Given the description of an element on the screen output the (x, y) to click on. 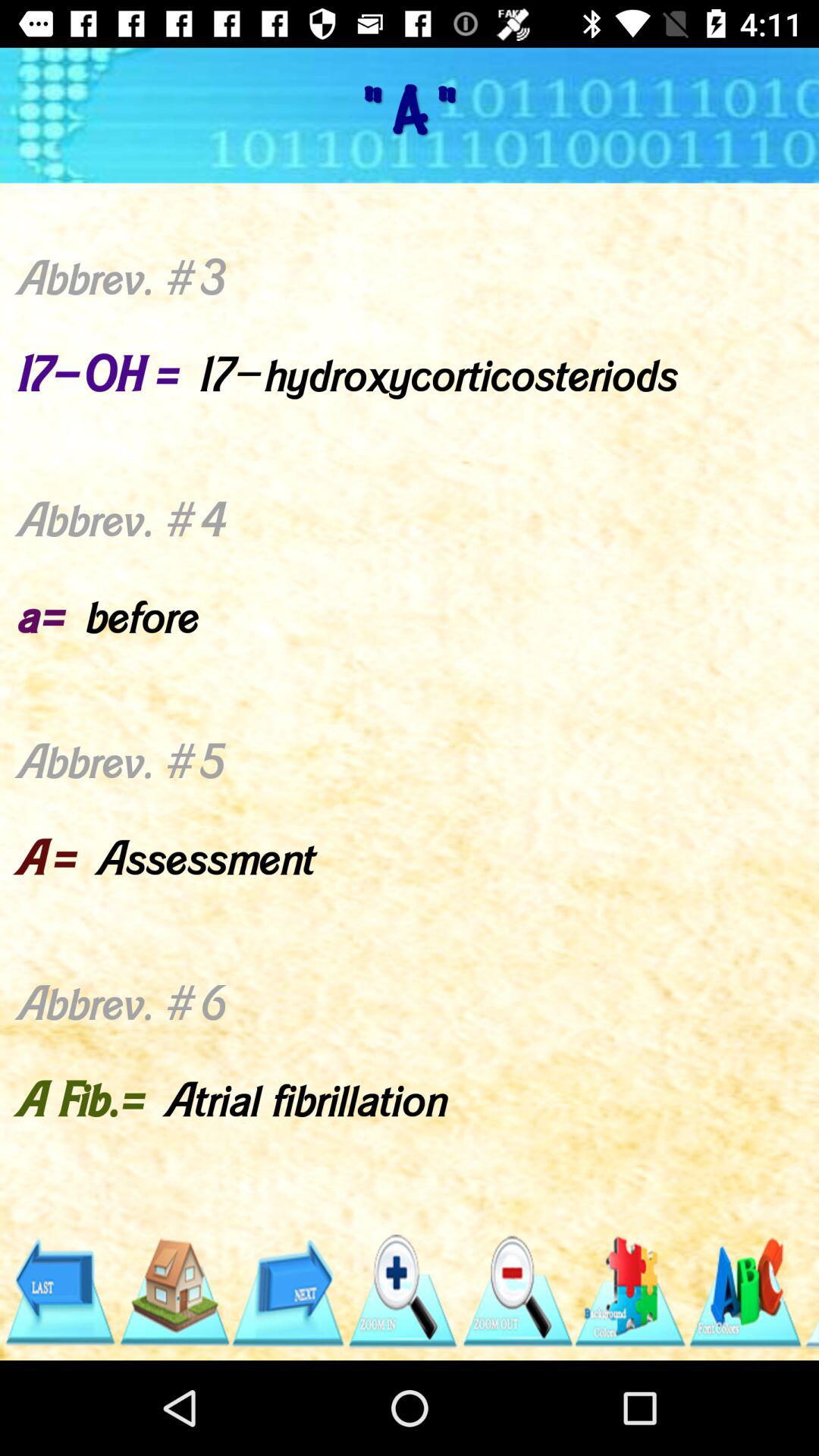
choose the item below abbrev 	1	 	 app (810, 1291)
